Given the description of an element on the screen output the (x, y) to click on. 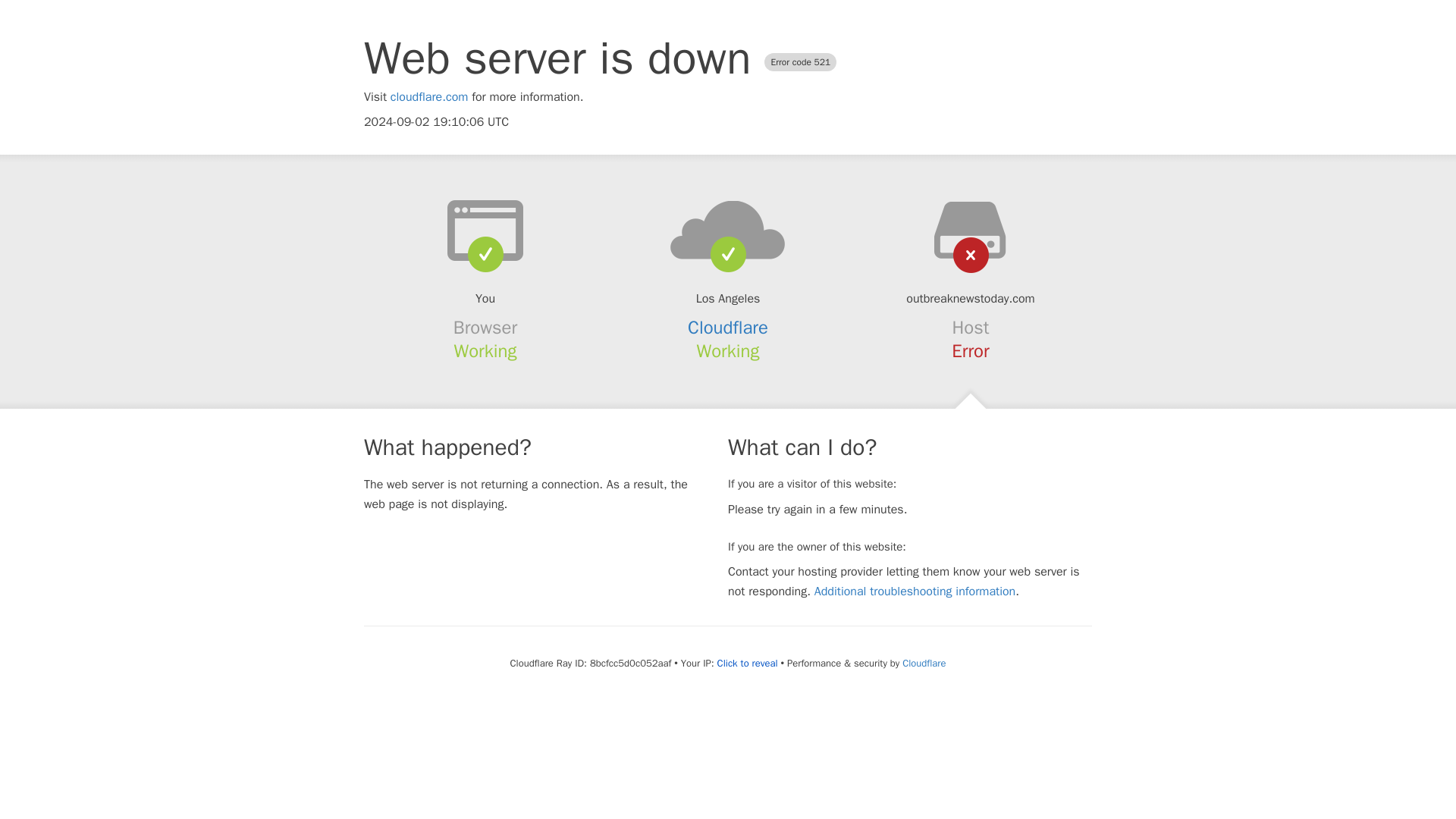
Cloudflare (727, 327)
Additional troubleshooting information (913, 590)
Click to reveal (747, 663)
Cloudflare (923, 662)
cloudflare.com (429, 96)
